Given the description of an element on the screen output the (x, y) to click on. 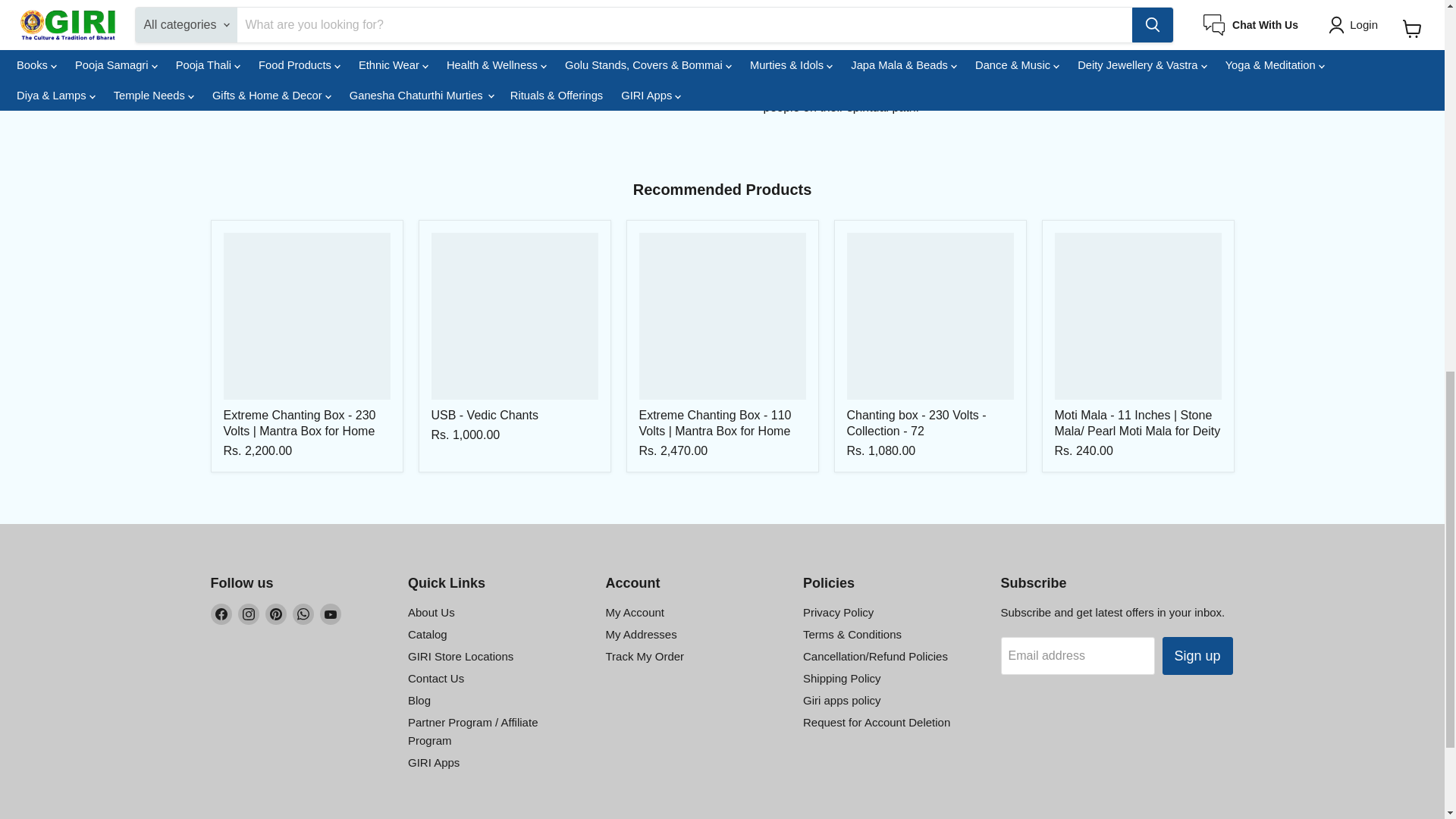
Instagram (248, 613)
WhatsApp (303, 613)
Facebook (221, 613)
YouTube (330, 613)
Pinterest (275, 613)
